Given the description of an element on the screen output the (x, y) to click on. 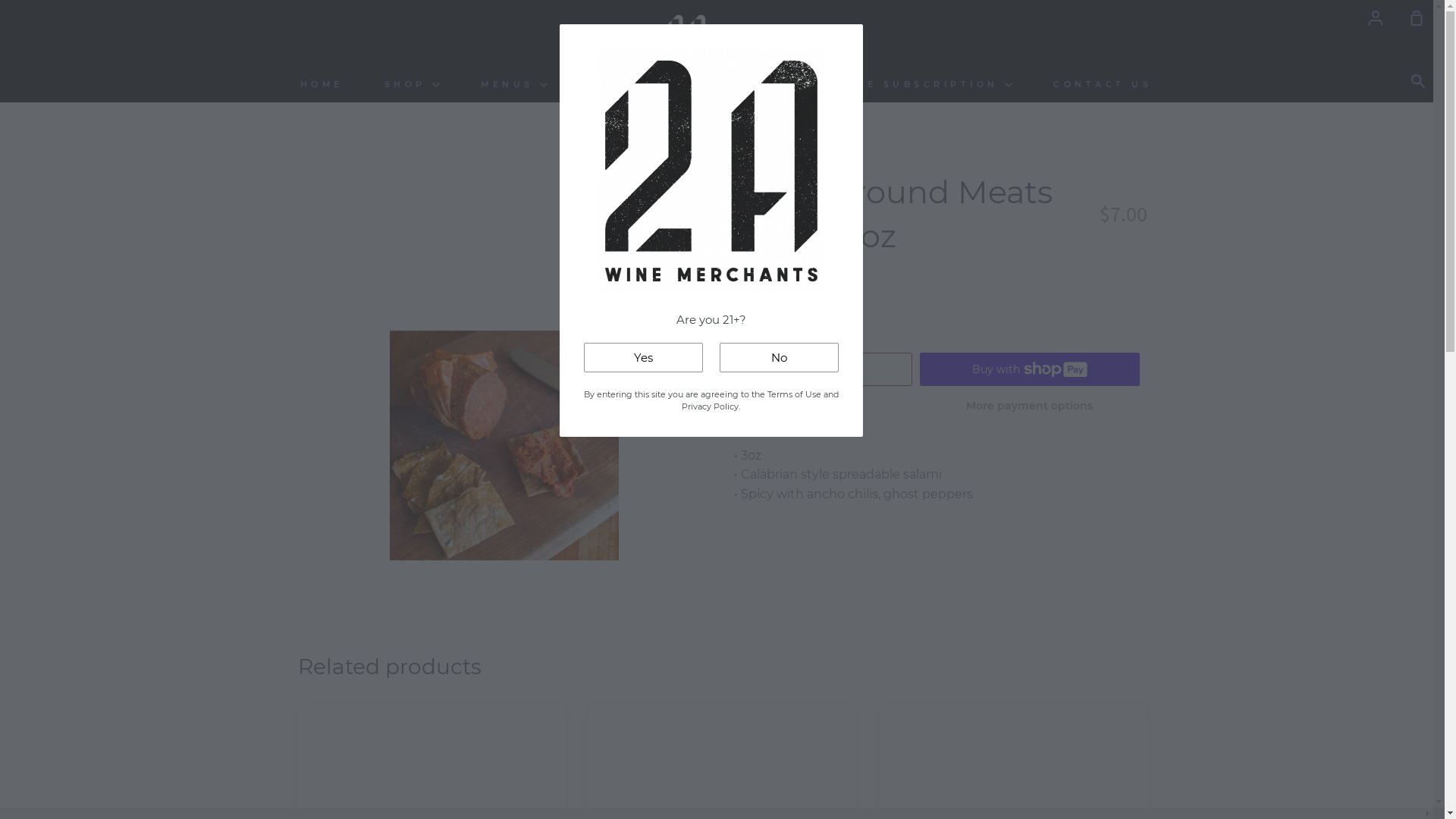
CONTACT US Element type: text (1102, 84)
Shopping Cart Element type: text (1410, 17)
WINE SUBSCRIPTION Element type: text (924, 84)
Search Element type: text (1421, 81)
More payment options Element type: text (1029, 405)
EVENTS Element type: text (624, 84)
No Element type: text (777, 357)
Add to Cart Element type: text (823, 368)
HOME Element type: text (321, 84)
Yes Element type: text (642, 357)
ABOUT US Element type: text (749, 84)
SHOP Element type: text (412, 84)
Account Element type: text (1375, 17)
MENUS Element type: text (513, 84)
